Given the description of an element on the screen output the (x, y) to click on. 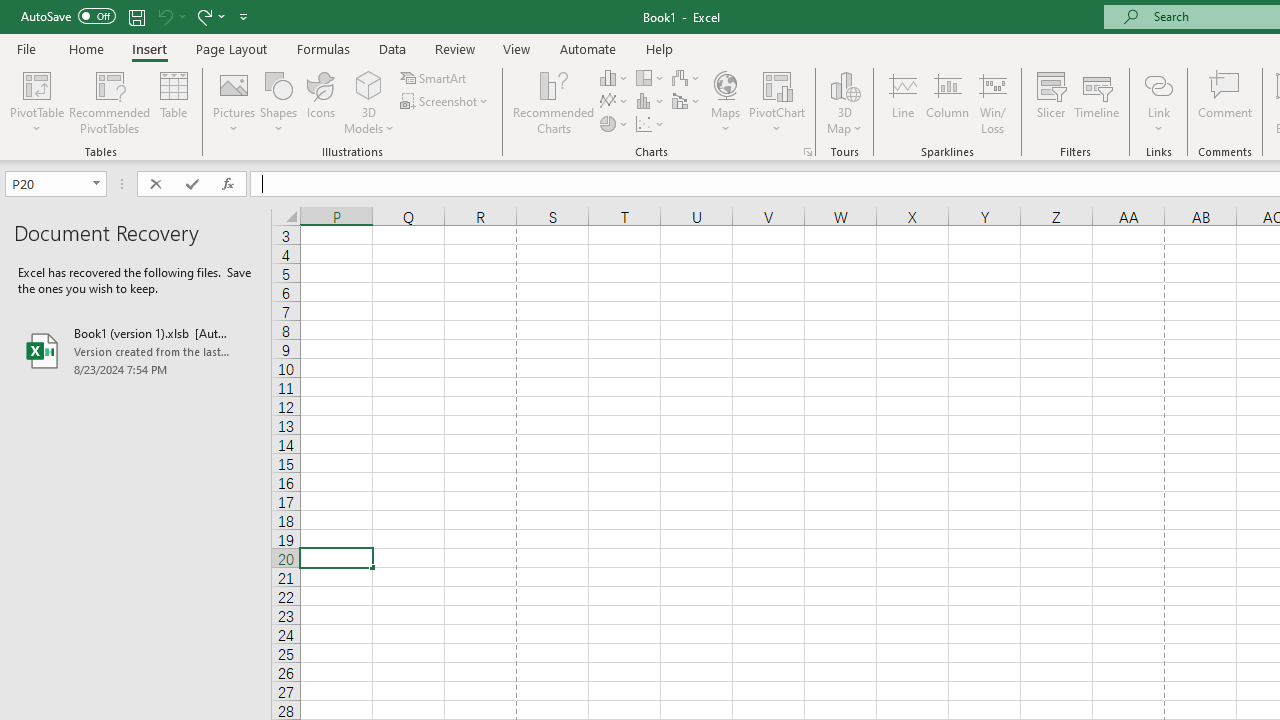
Slicer... (1051, 102)
Insert Hierarchy Chart (651, 78)
3D Models (368, 102)
PivotChart (777, 102)
Insert Combo Chart (687, 101)
Line (902, 102)
3D Map (845, 84)
Comment (1224, 102)
Column (947, 102)
SmartArt... (434, 78)
